Given the description of an element on the screen output the (x, y) to click on. 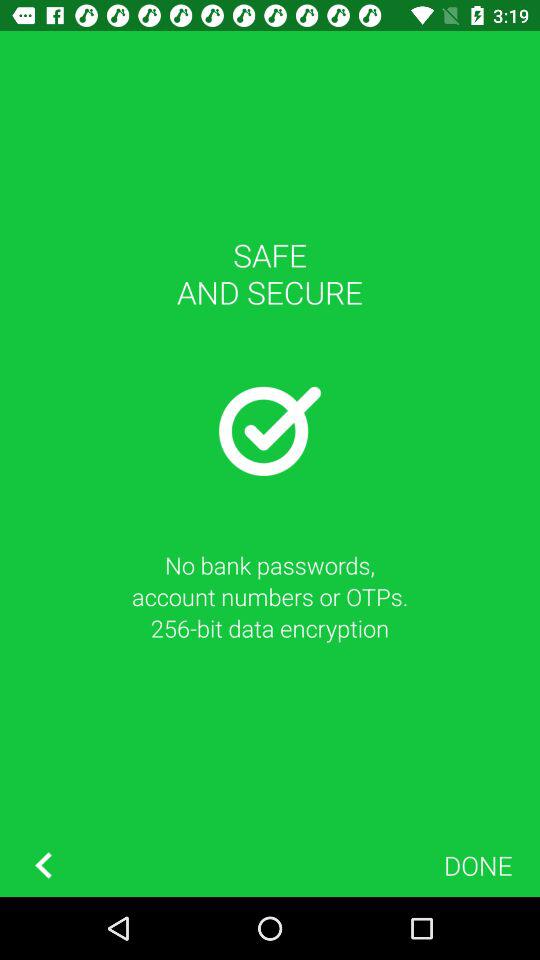
back (43, 865)
